Given the description of an element on the screen output the (x, y) to click on. 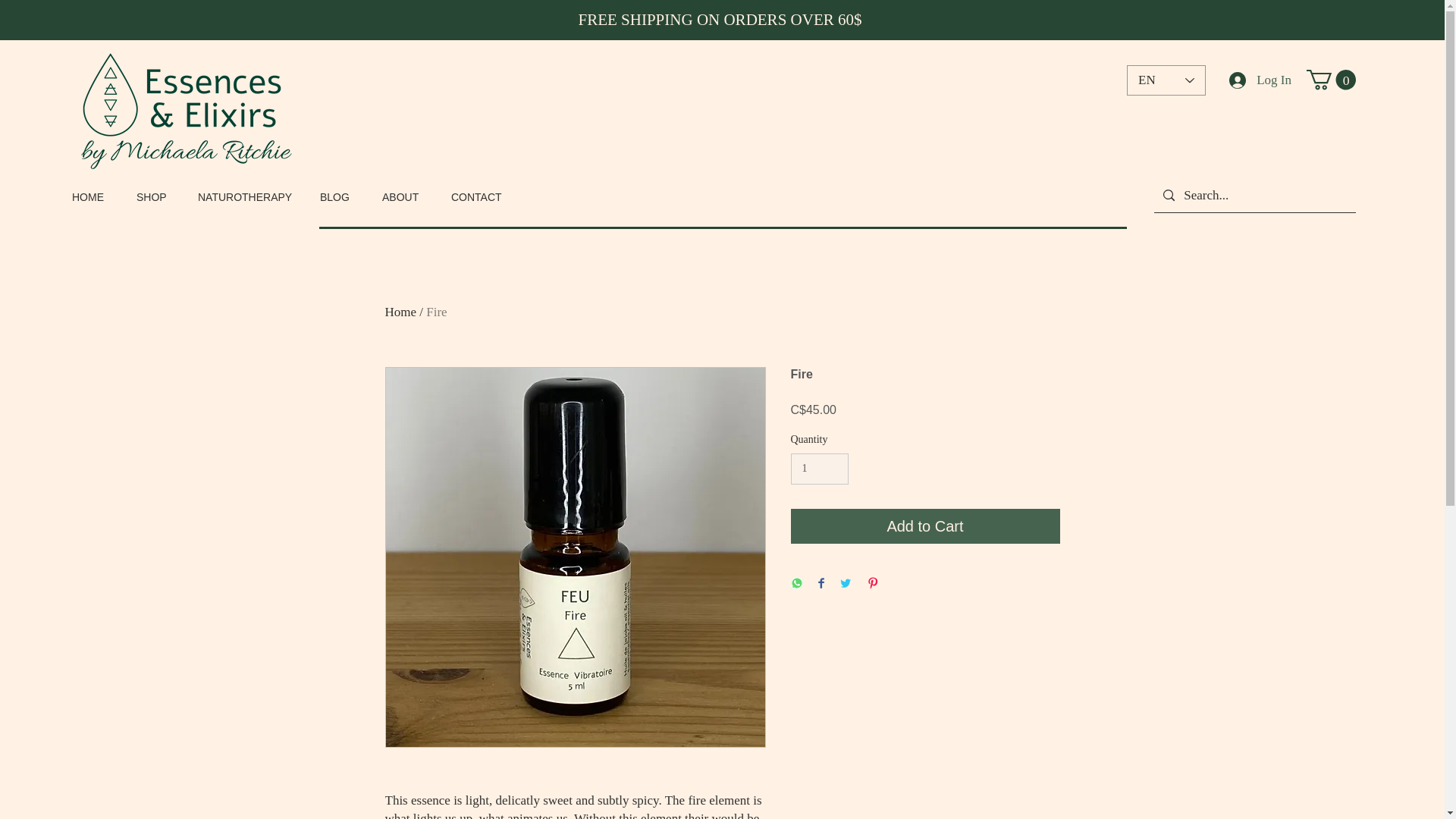
ABOUT (405, 197)
Add to Cart (924, 525)
NATUROTHERAPY (247, 197)
HOME (93, 197)
0 (1330, 79)
SHOP (155, 197)
Log In (1259, 80)
Home (400, 311)
Fire (436, 311)
BLOG (339, 197)
1 (818, 468)
CONTACT (480, 197)
0 (1330, 79)
